Given the description of an element on the screen output the (x, y) to click on. 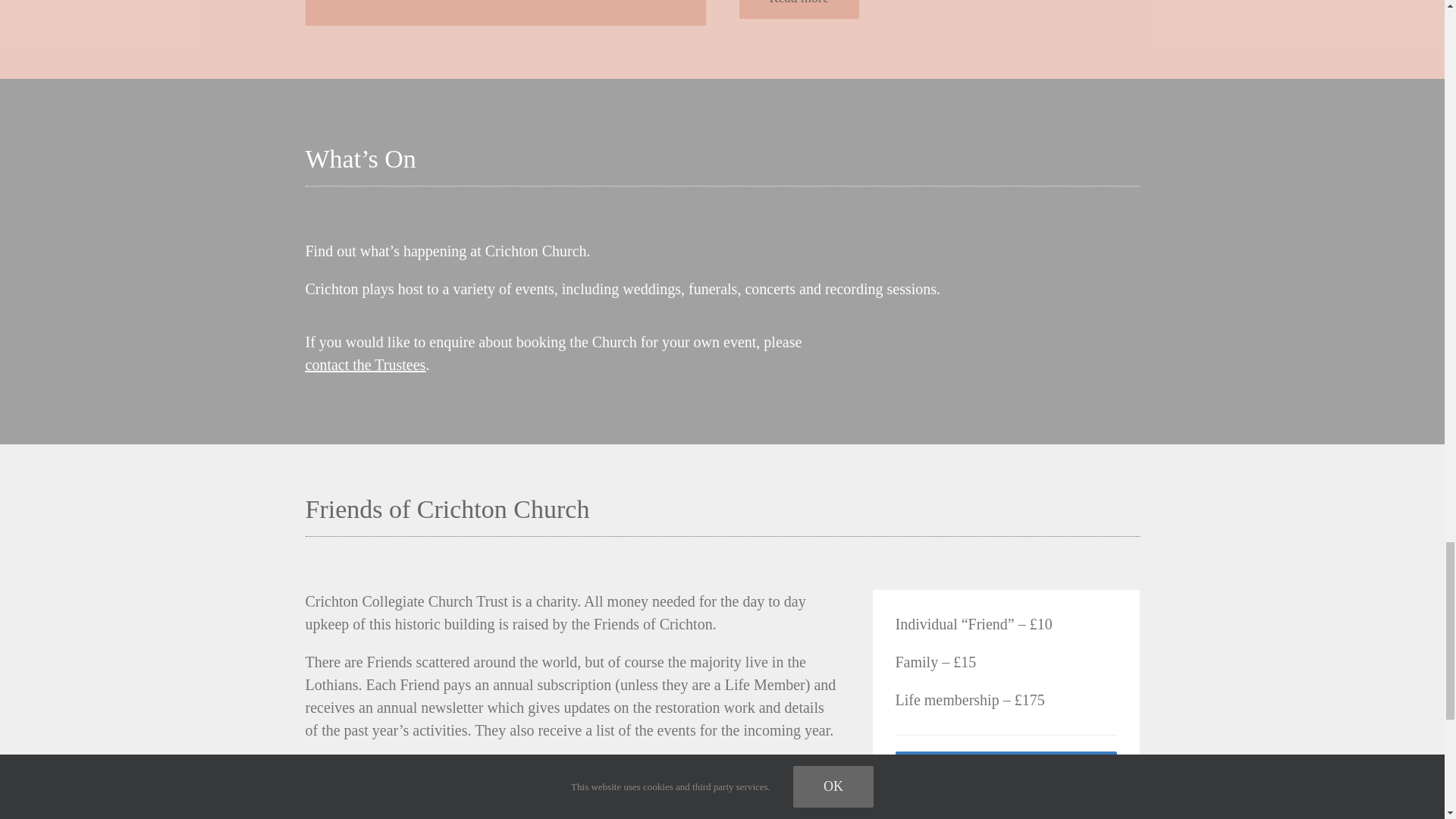
041 (505, 11)
